Given the description of an element on the screen output the (x, y) to click on. 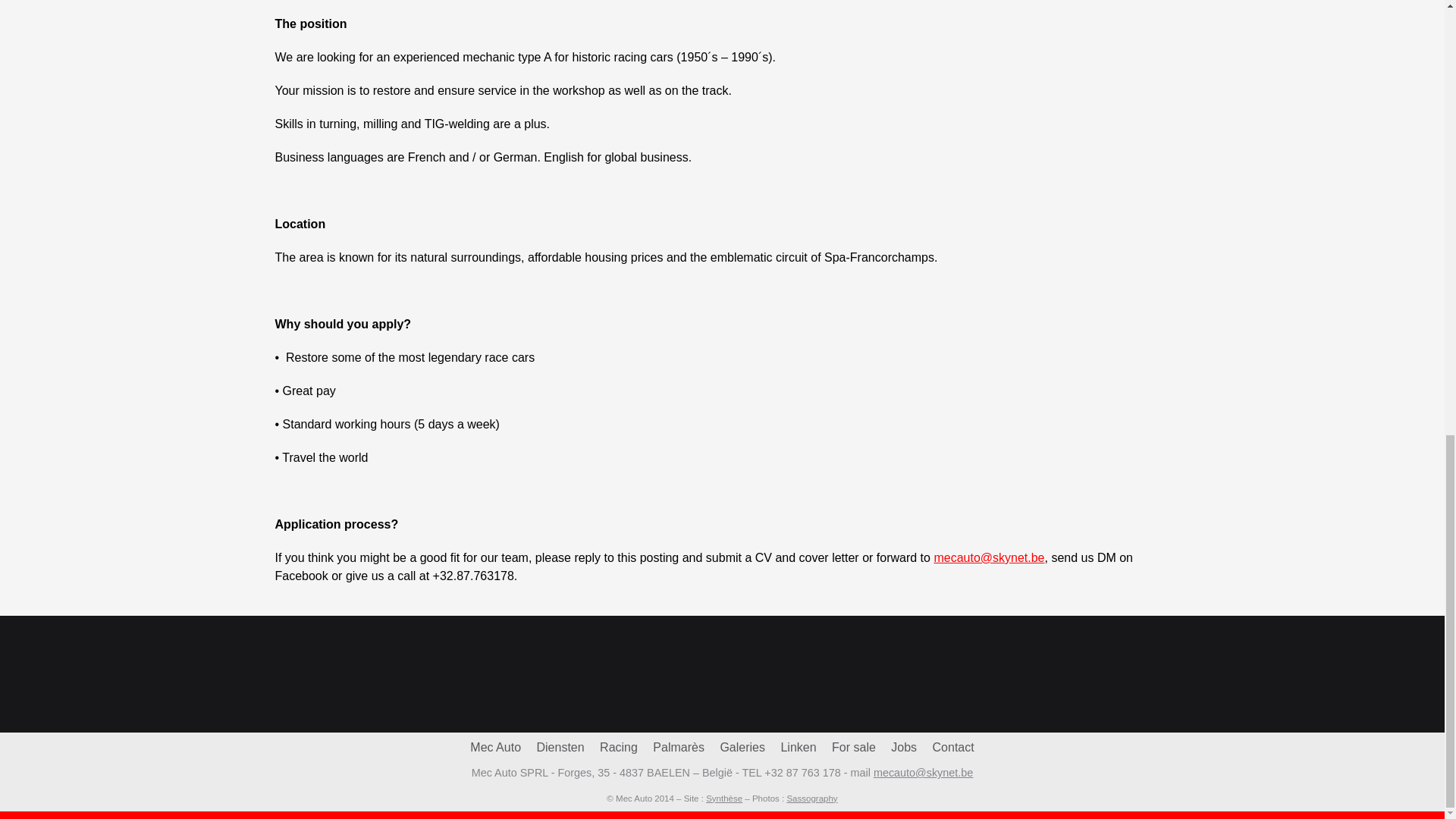
Diensten (559, 747)
Linken (797, 747)
Galeries (742, 747)
Racing (618, 747)
For sale (853, 747)
Sassography (811, 798)
Mec Auto (495, 747)
Jobs (904, 747)
Contact (953, 747)
